Given the description of an element on the screen output the (x, y) to click on. 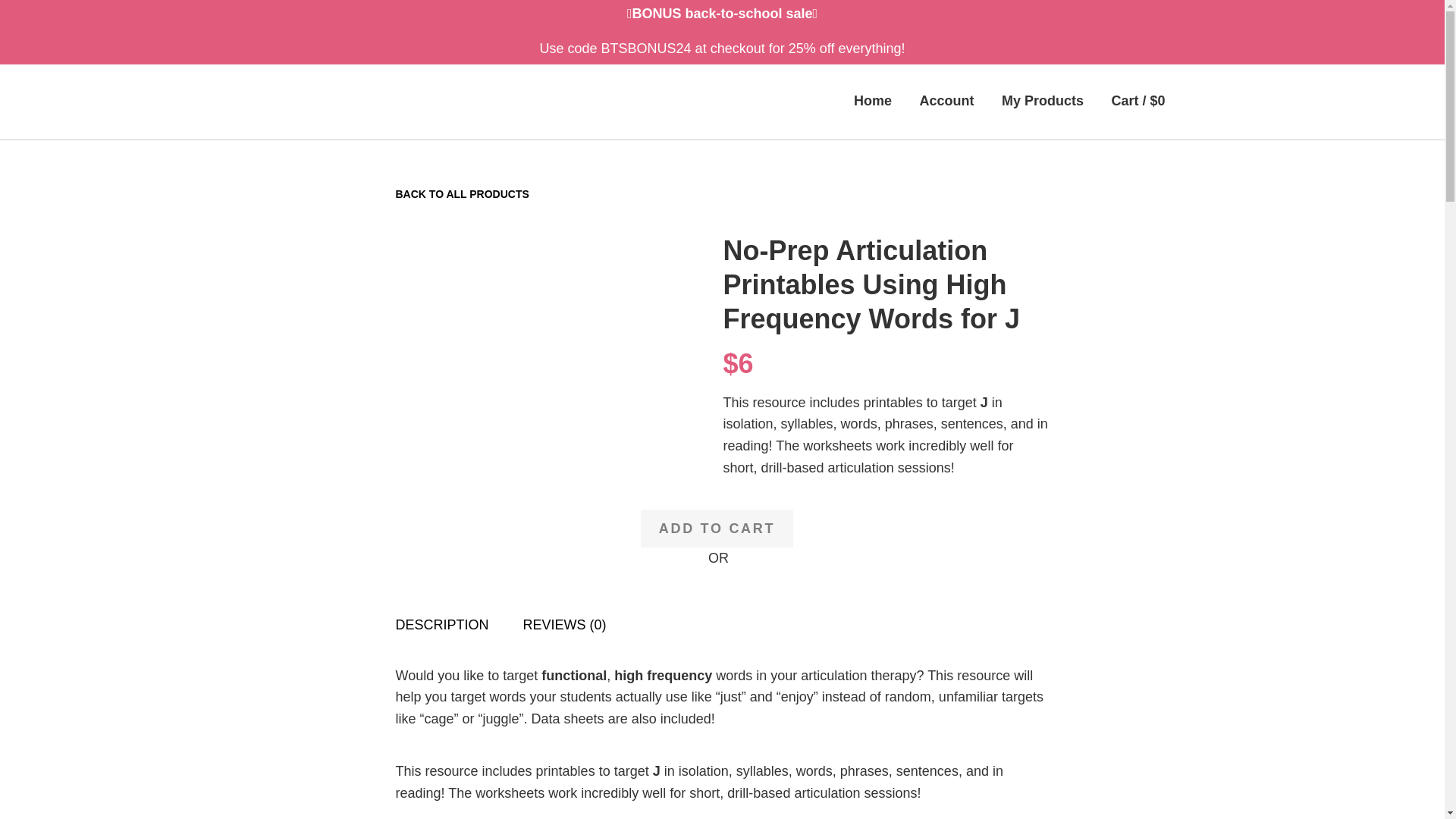
Speechy Musings (333, 102)
Account (947, 100)
Home (872, 100)
Start shopping (1137, 100)
ADD TO CART (716, 528)
DESCRIPTION (442, 624)
BACK TO ALL PRODUCTS (462, 193)
My Products (1042, 100)
